Given the description of an element on the screen output the (x, y) to click on. 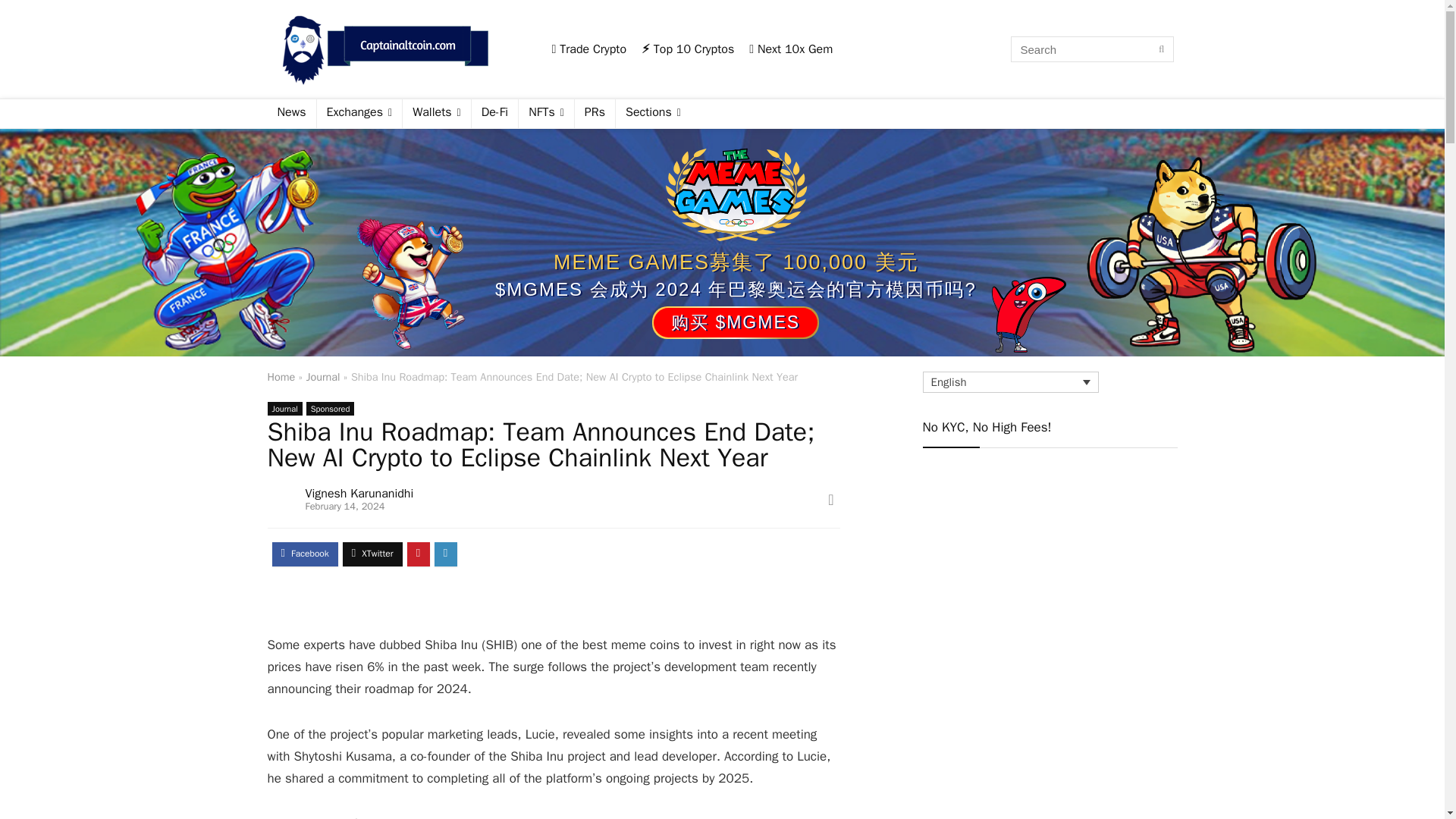
Sections (652, 113)
News (290, 113)
Wallets (436, 113)
Exchanges (360, 113)
NFTs (545, 113)
View all posts in Journal (283, 408)
De-Fi (494, 113)
View all posts in Sponsored (330, 408)
PRs (594, 113)
